Given the description of an element on the screen output the (x, y) to click on. 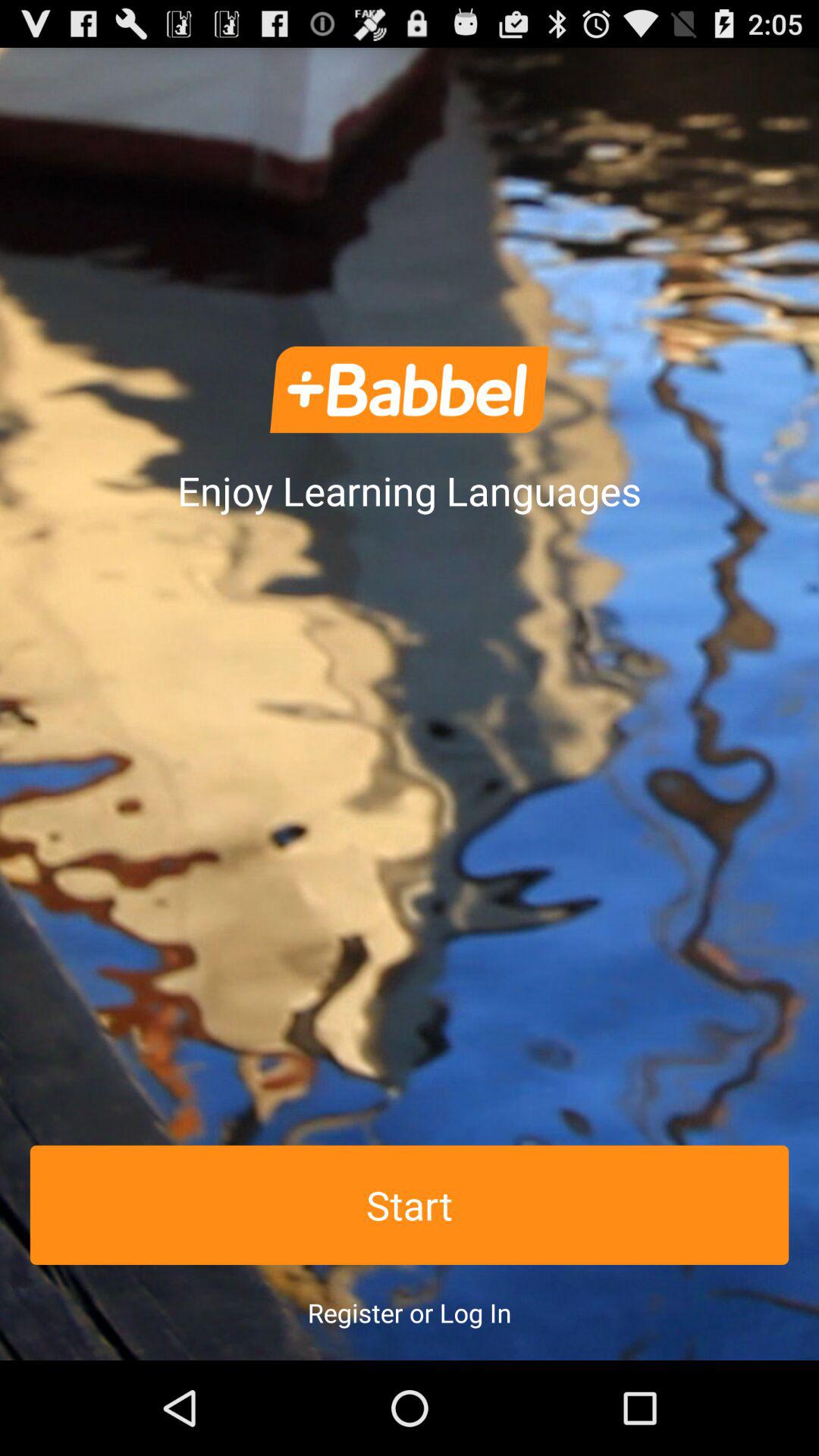
tap the app below the enjoy learning languages app (409, 1204)
